Given the description of an element on the screen output the (x, y) to click on. 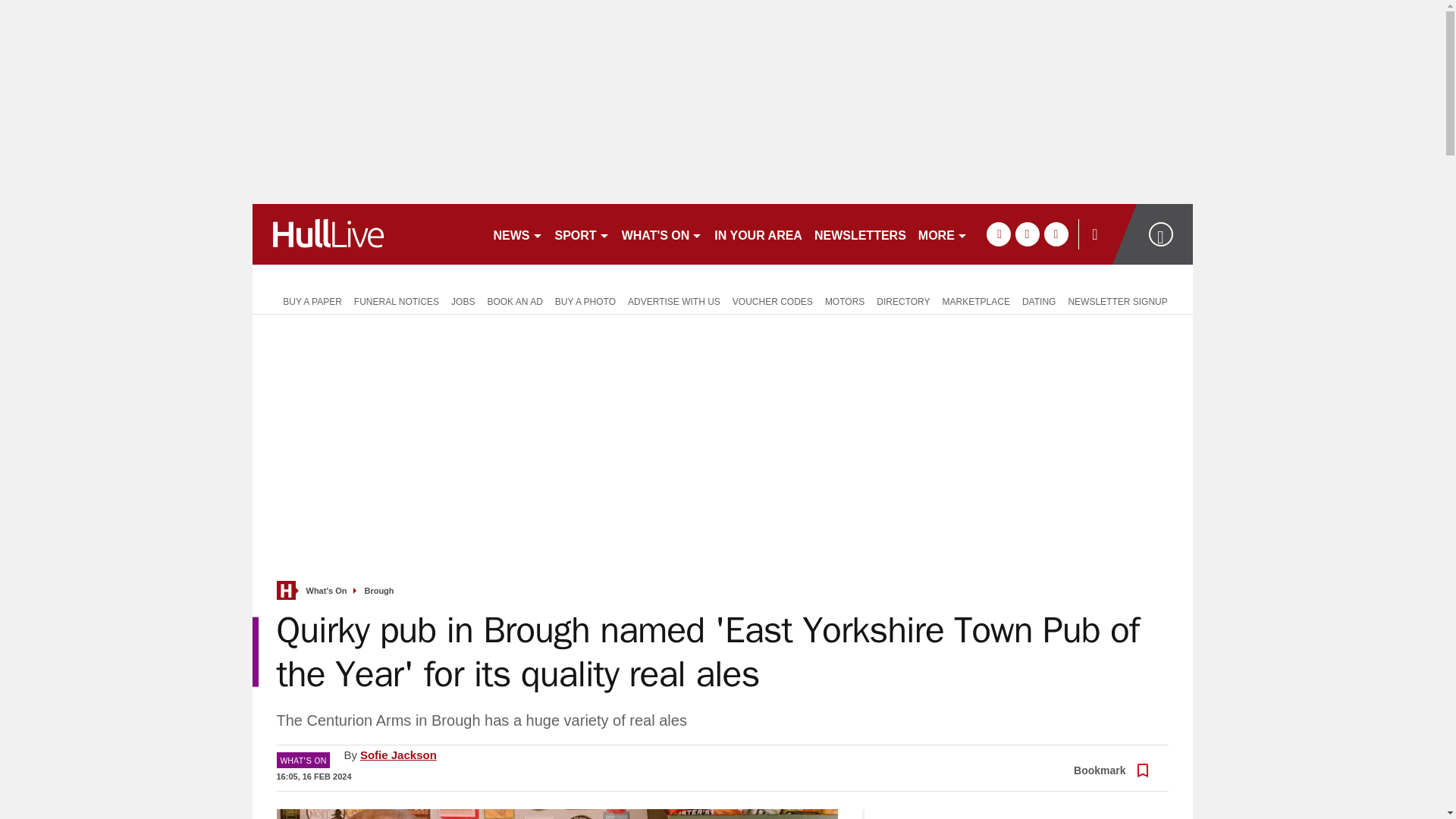
MORE (943, 233)
facebook (997, 233)
NEWSLETTERS (860, 233)
WHAT'S ON (662, 233)
hulldailymail (365, 233)
twitter (1026, 233)
NEWS (517, 233)
IN YOUR AREA (757, 233)
instagram (1055, 233)
SPORT (581, 233)
